Given the description of an element on the screen output the (x, y) to click on. 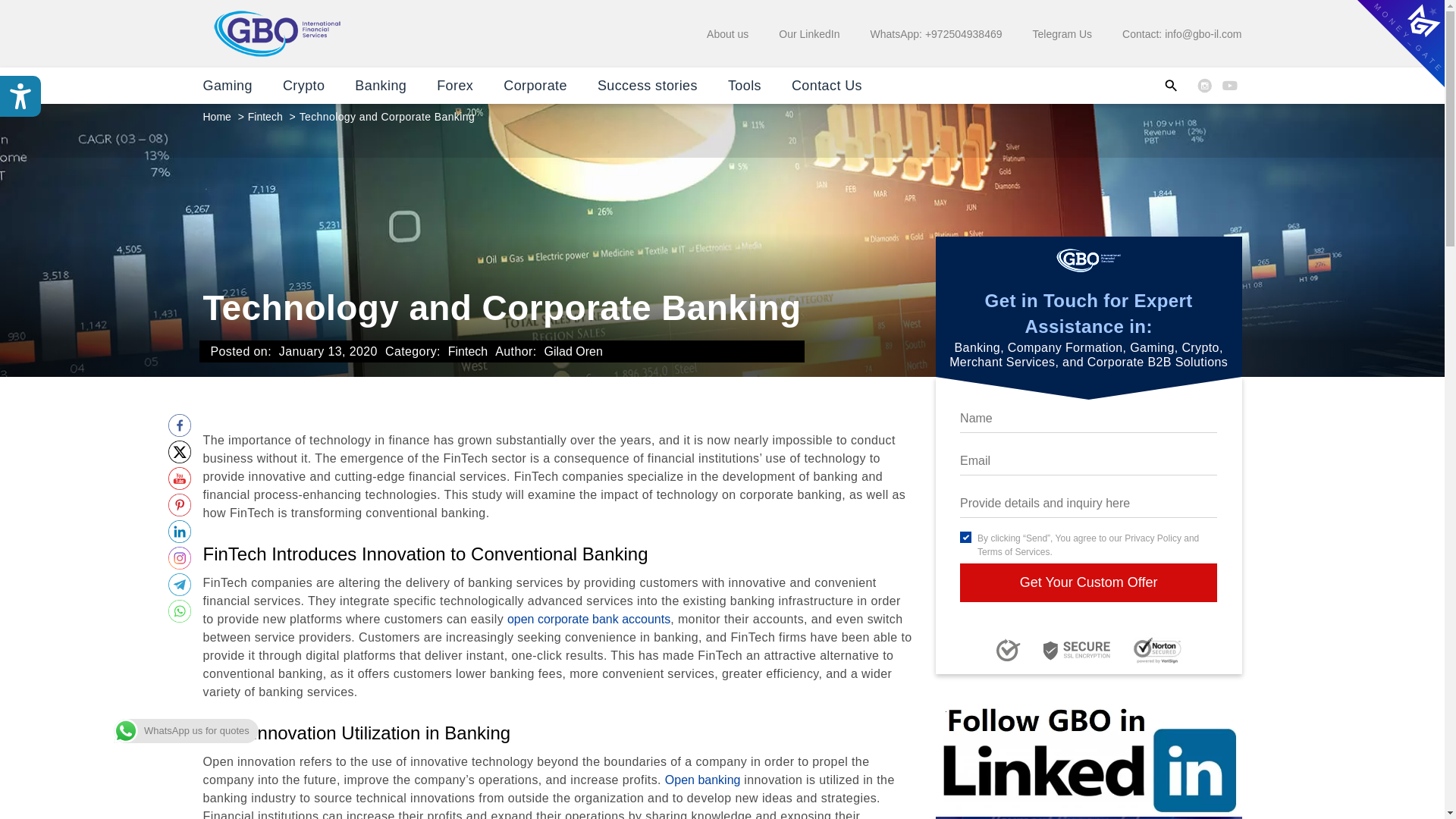
Pinterest (179, 504)
Posts by Gilad Oren (572, 350)
Twitter (179, 451)
WhatsApp (179, 610)
LinkedIn (179, 531)
Facebook (179, 425)
Get Your Custom Offer (1088, 582)
Accessibility Tools (20, 96)
